Given the description of an element on the screen output the (x, y) to click on. 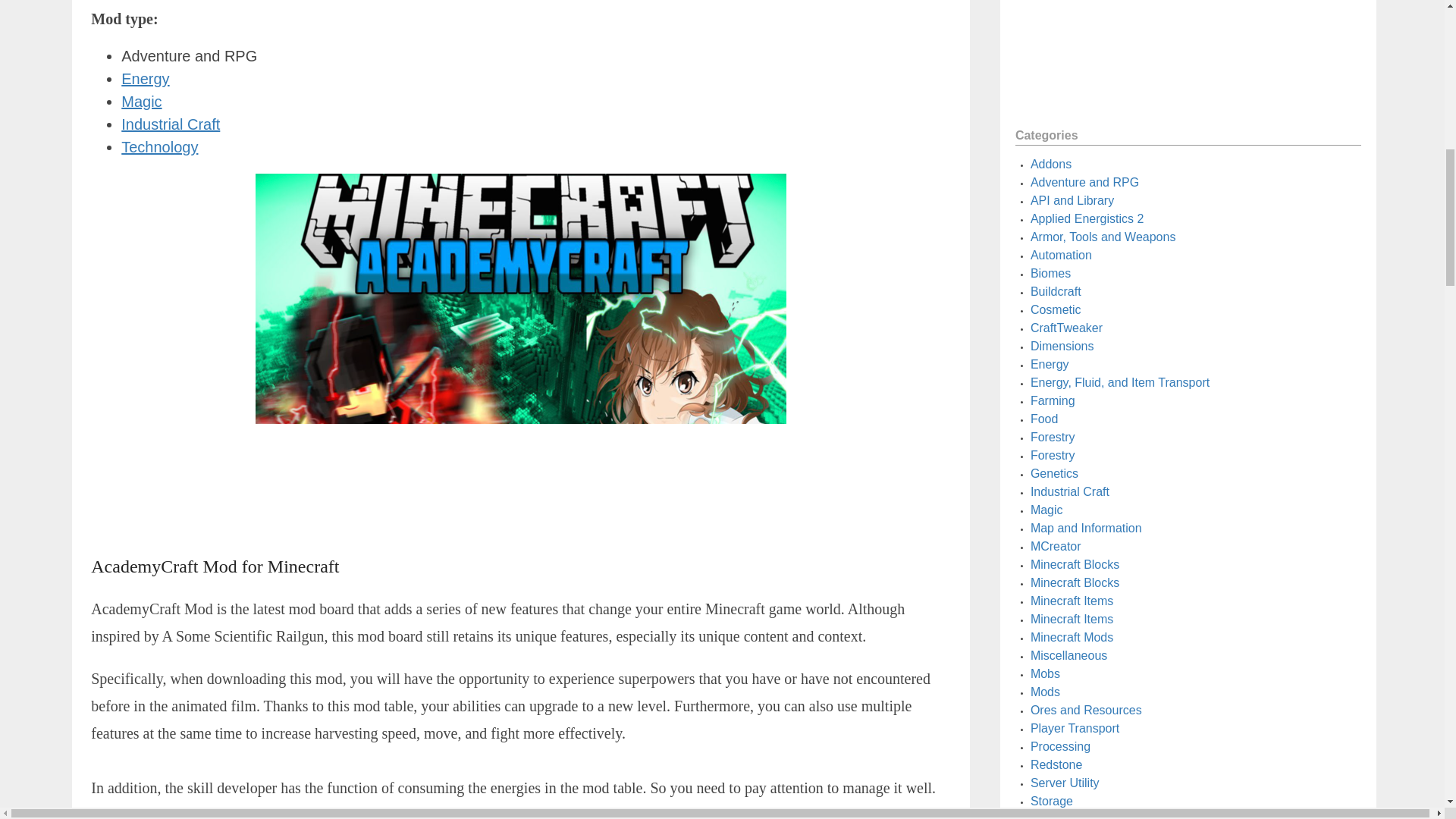
Advertisement (1187, 57)
